Given the description of an element on the screen output the (x, y) to click on. 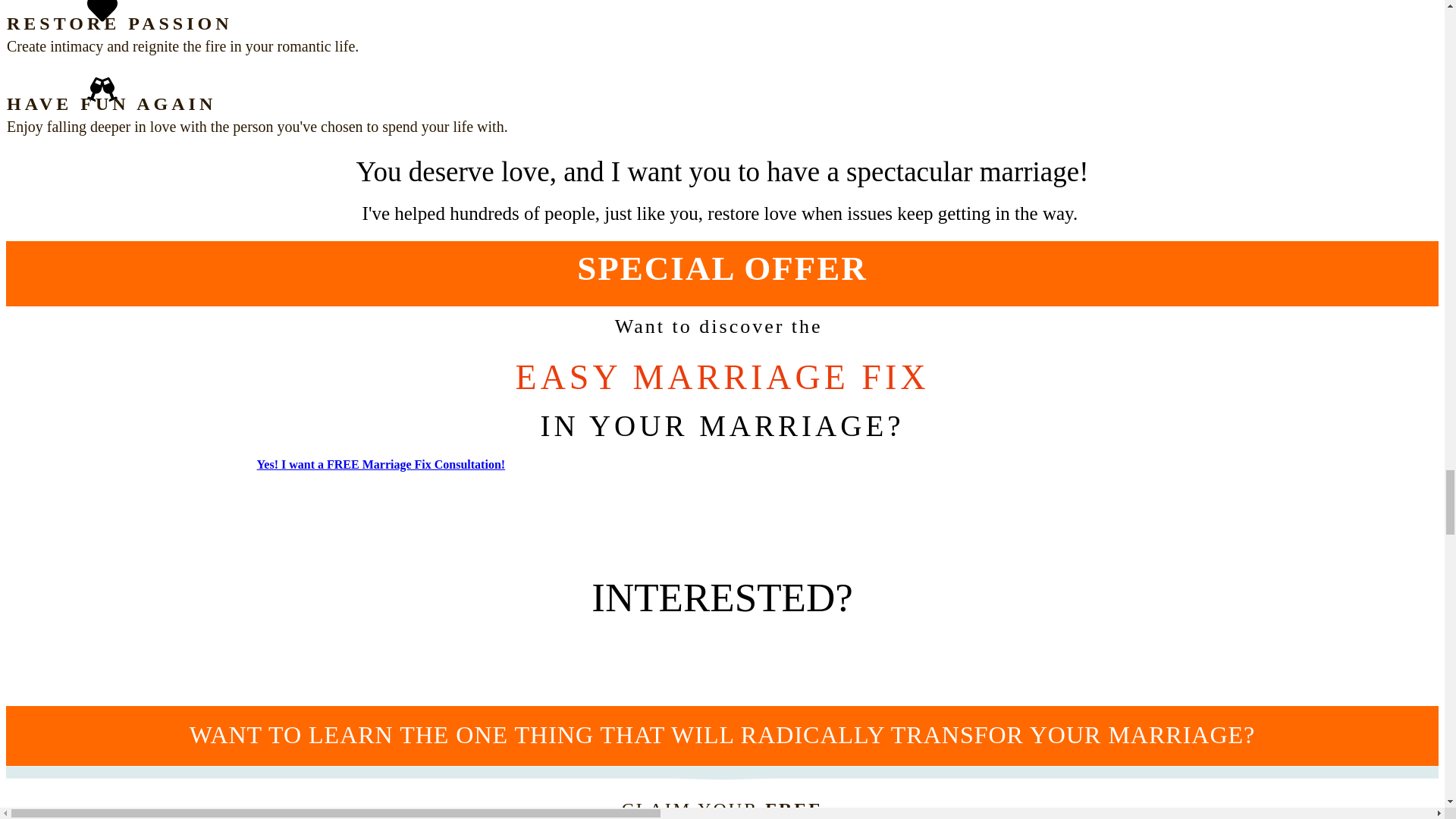
Yes! I want a FREE Marriage Fix Consultation! (381, 469)
